Given the description of an element on the screen output the (x, y) to click on. 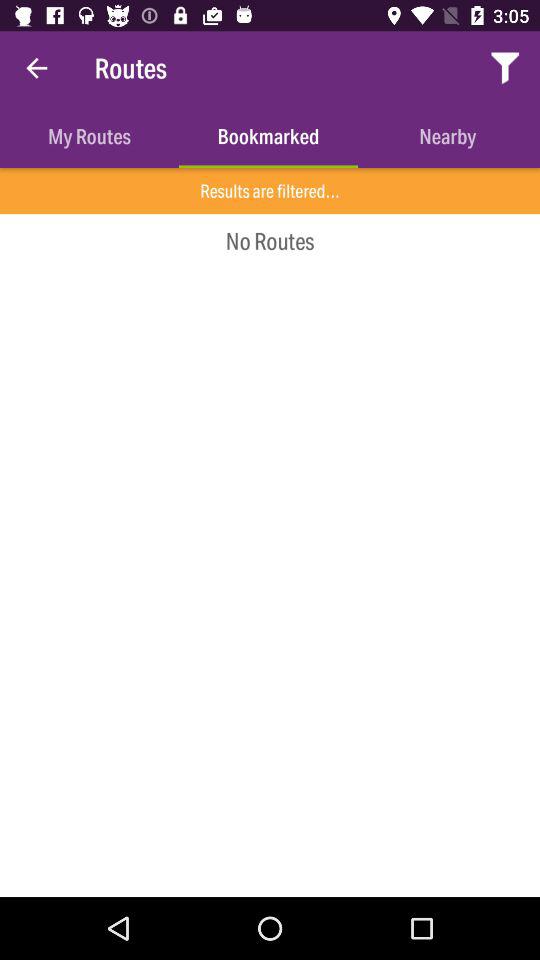
choose item next to the routes item (36, 68)
